Given the description of an element on the screen output the (x, y) to click on. 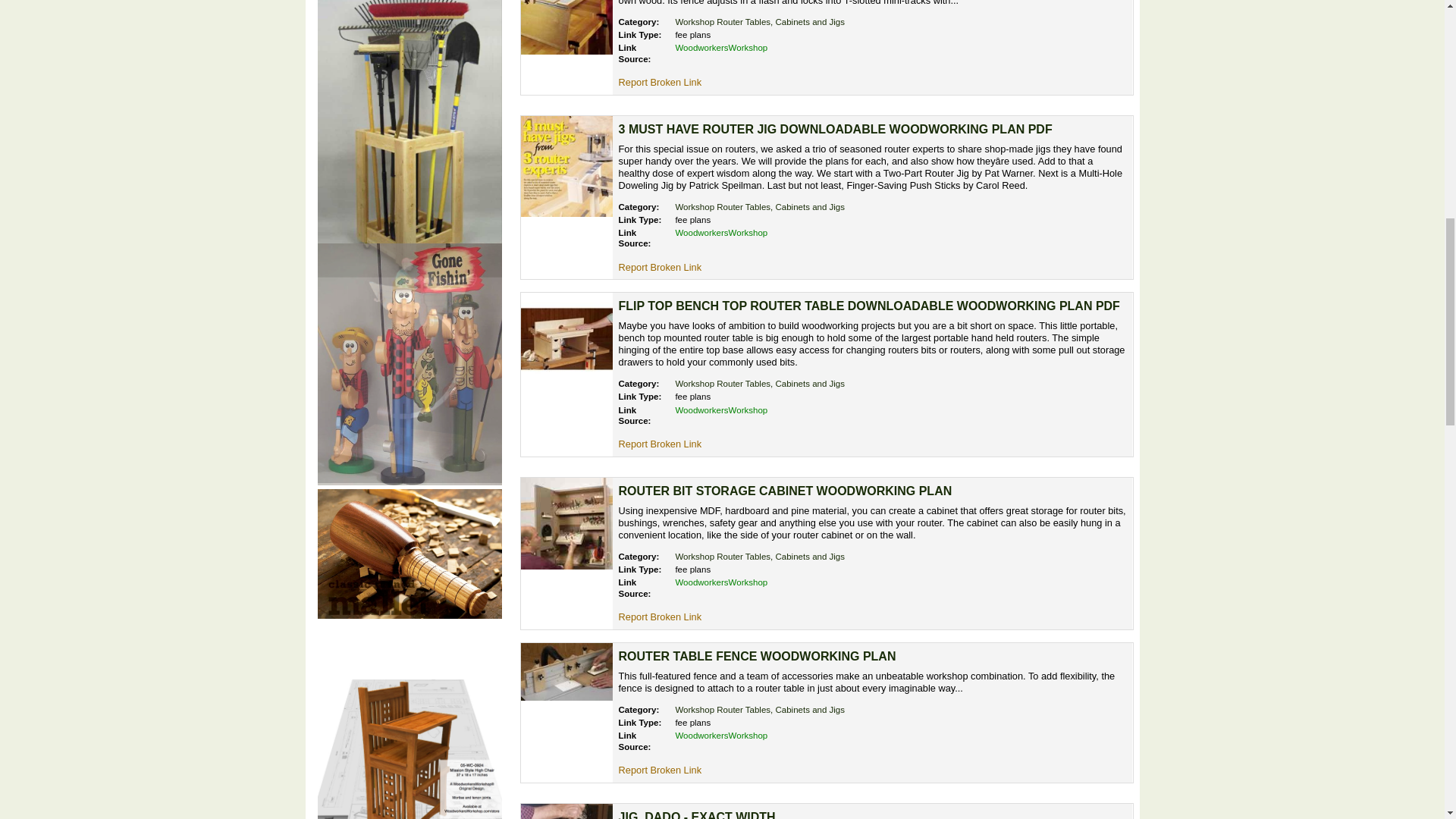
3 Must Have Router Jig Downloadable Woodworking Plan PDF (565, 166)
Workshop Router Tables, Cabinets and Jigs (759, 383)
Report Broken Link (659, 443)
Benchtop Router Table Woodworking Plan (565, 27)
3 MUST HAVE ROUTER JIG DOWNLOADABLE WOODWORKING PLAN PDF (835, 128)
Workshop Router Tables, Cabinets and Jigs (759, 556)
Report Broken Link (659, 81)
JIG, DADO - EXACT WIDTH (697, 814)
ROUTER TABLE FENCE WOODWORKING PLAN (757, 656)
Router Bit Storage Cabinet Woodworking Plan (565, 523)
ROUTER BIT STORAGE CABINET WOODWORKING PLAN (785, 490)
Workshop Router Tables, Cabinets and Jigs (759, 709)
Workshop Router Tables, Cabinets and Jigs (759, 206)
Report Broken Link (659, 616)
